Given the description of an element on the screen output the (x, y) to click on. 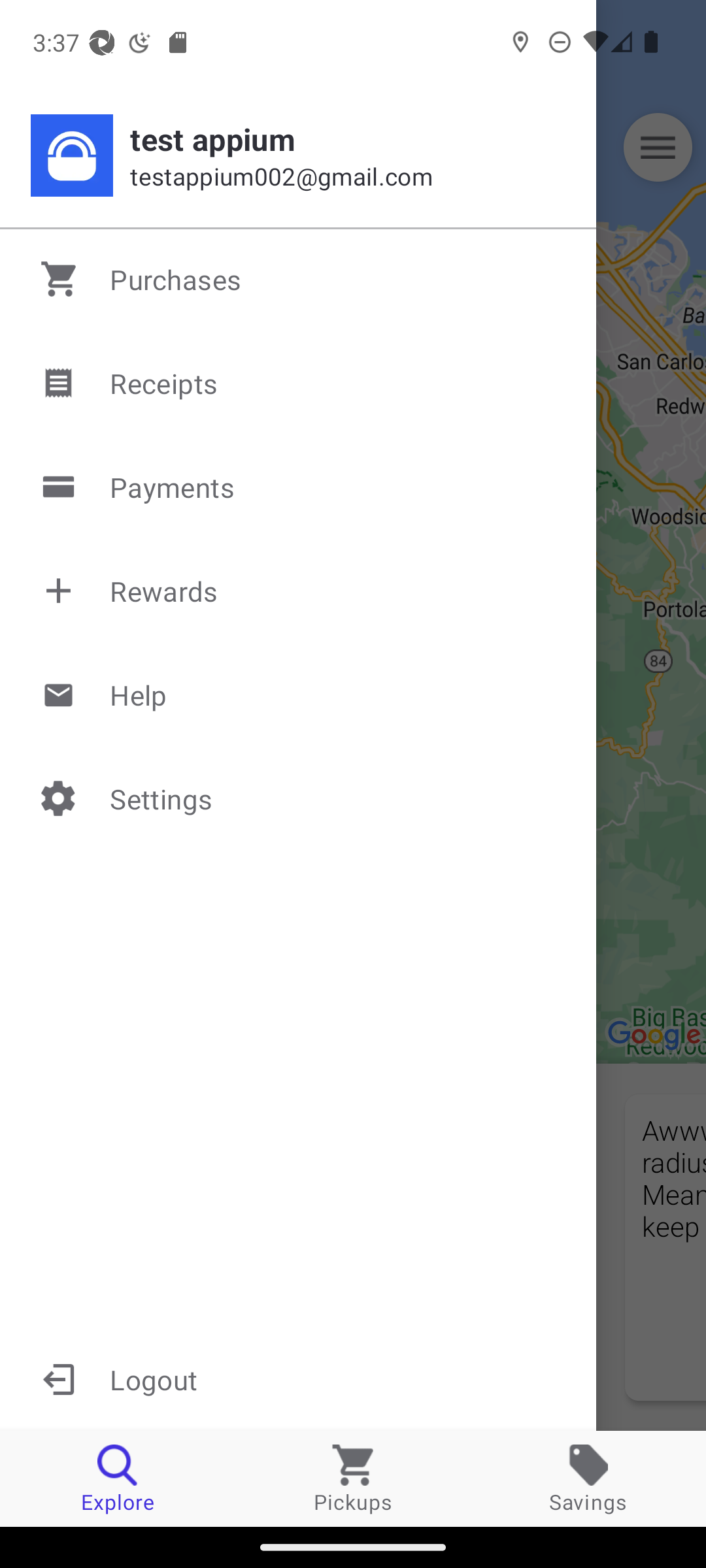
Purchases (299, 278)
Receipts (299, 382)
Payments (299, 487)
Rewards (299, 590)
Help (299, 694)
Settings (299, 797)
Logout (297, 1379)
Pickups (352, 1478)
Savings (588, 1478)
